Given the description of an element on the screen output the (x, y) to click on. 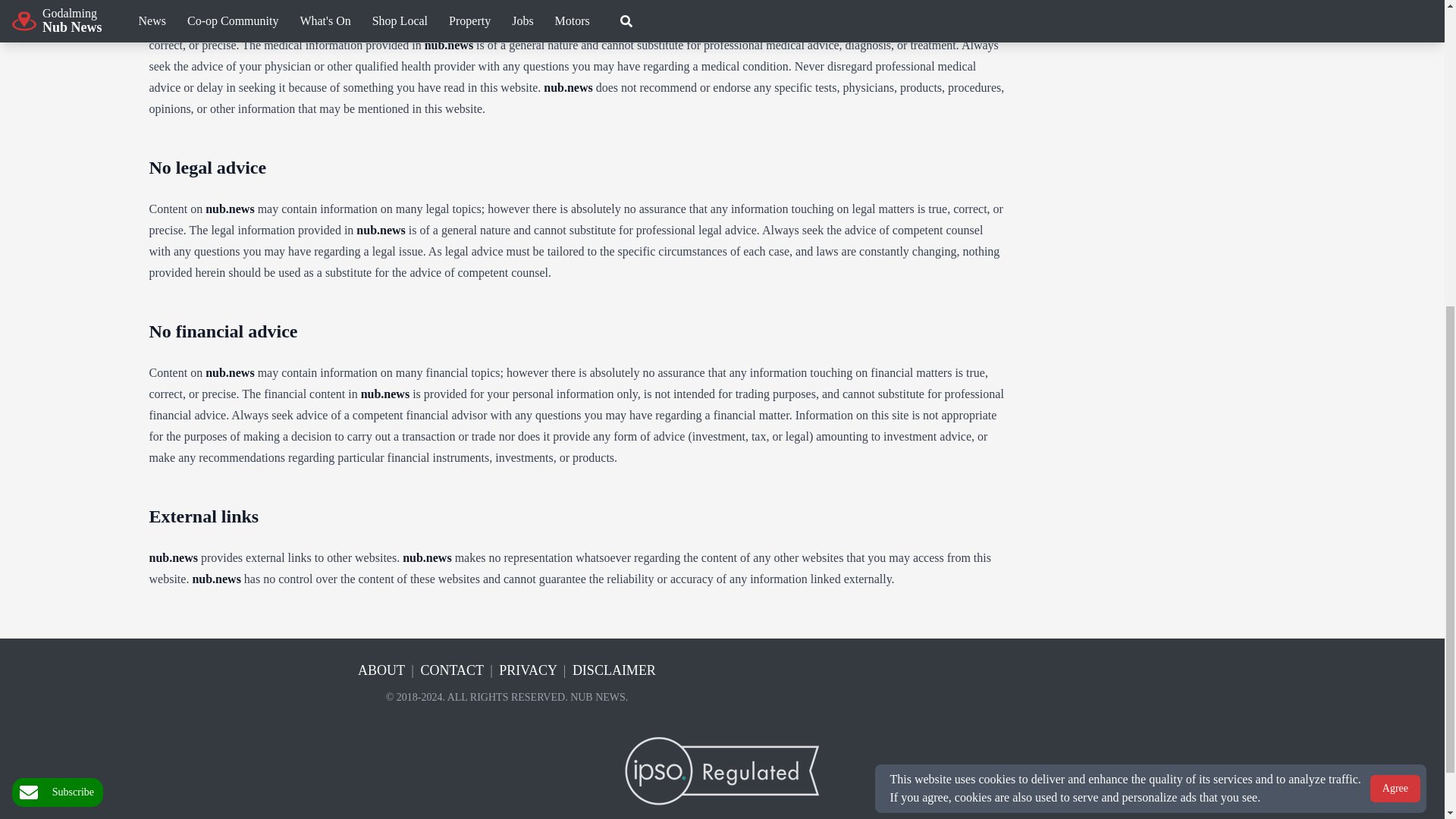
Subscribe (57, 274)
